Given the description of an element on the screen output the (x, y) to click on. 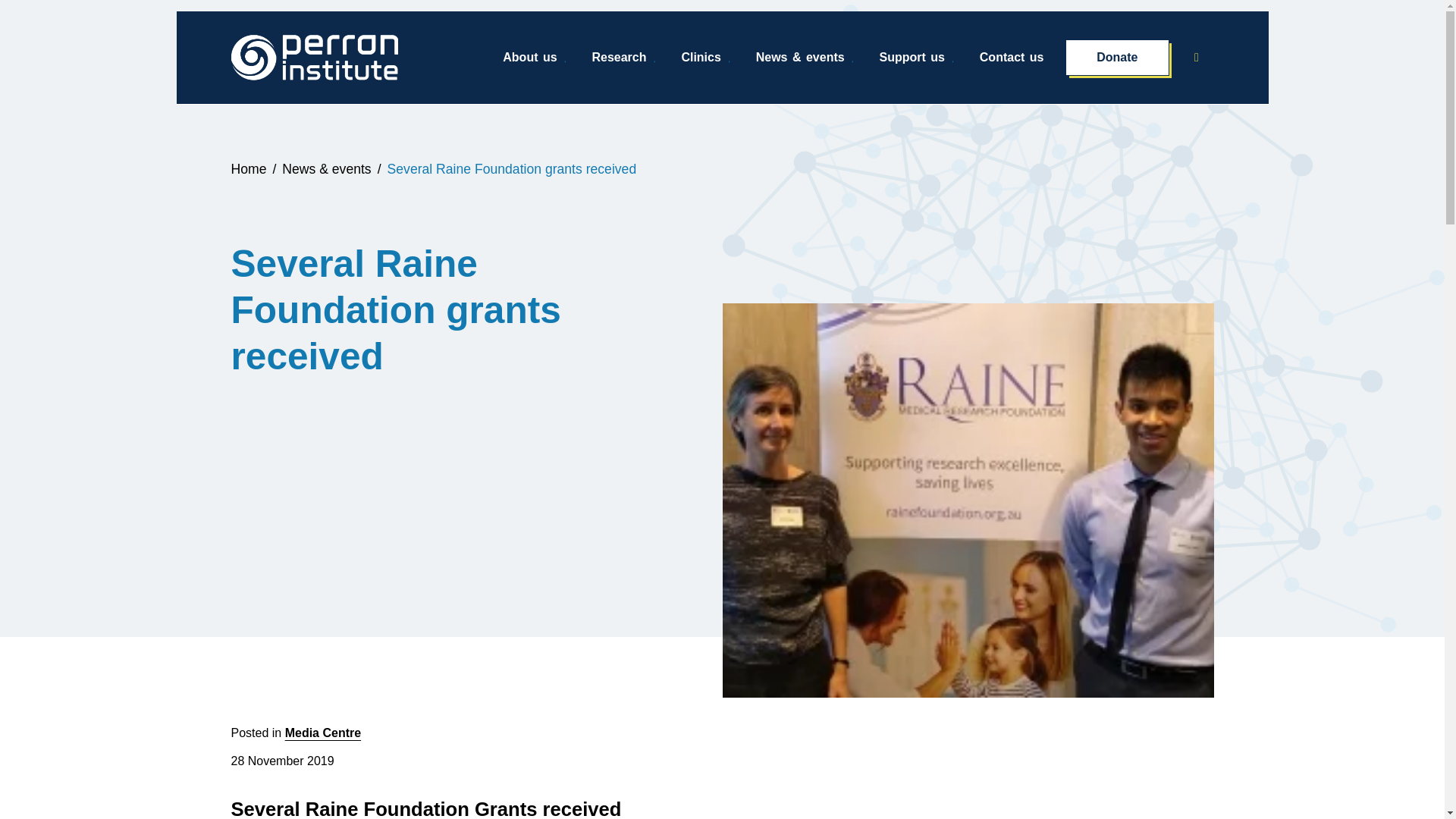
Support us (917, 57)
Search (1201, 57)
Contact us (1012, 57)
About us (534, 57)
Donate (1117, 57)
Research (623, 57)
